Given the description of an element on the screen output the (x, y) to click on. 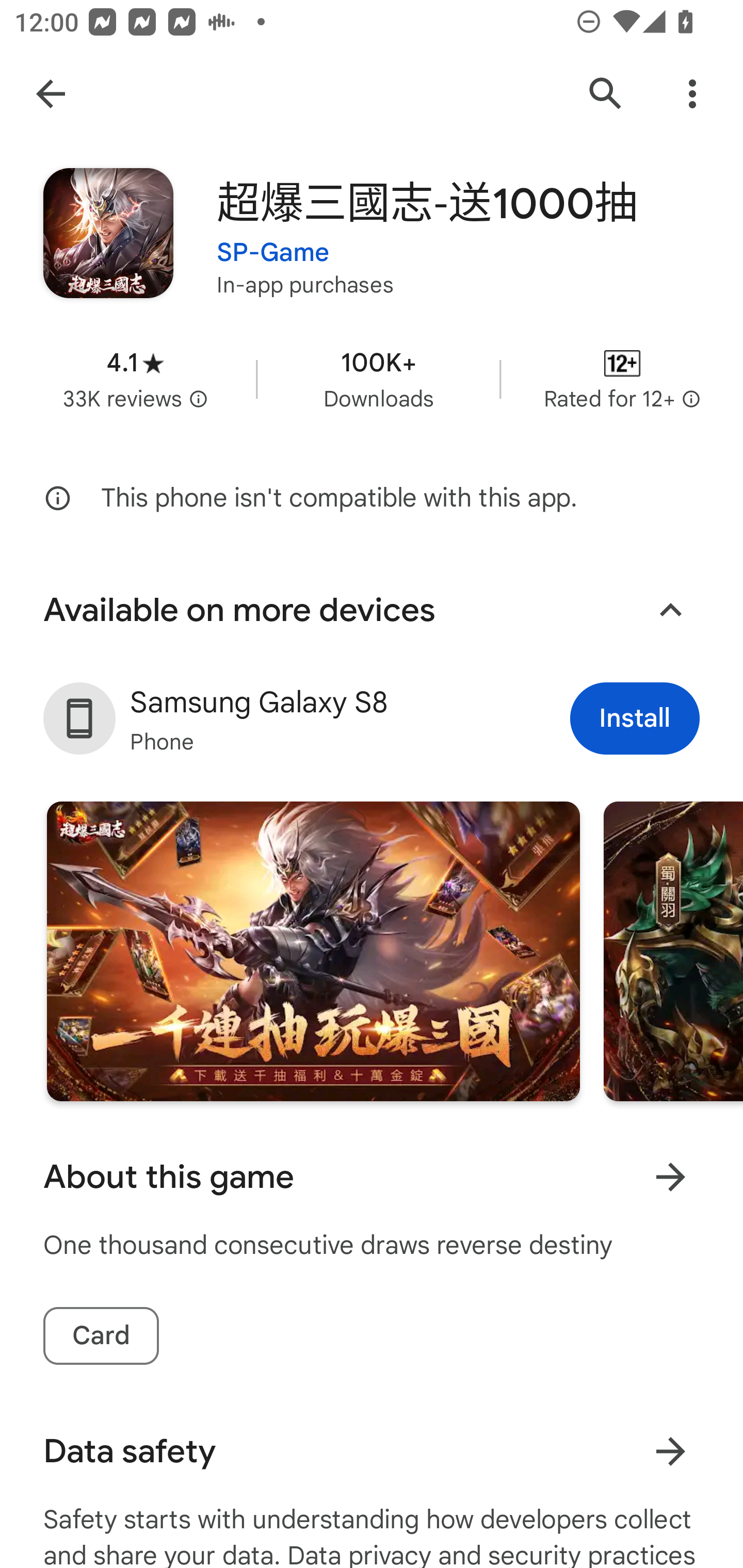
Navigate up (50, 93)
Search Google Play (605, 93)
More Options (692, 93)
SP-Game (272, 240)
Average rating 4.1 stars in 33 thousand reviews (135, 379)
Content rating Rated for 12+ (622, 379)
Available on more devices Collapse (371, 609)
Collapse (670, 610)
Install (634, 718)
Screenshot "1" of "7" (313, 950)
About this game Learn more About this game (371, 1176)
Learn more About this game (670, 1176)
Card tag (101, 1335)
Data safety Learn more about data safety (371, 1451)
Learn more about data safety (670, 1451)
